Given the description of an element on the screen output the (x, y) to click on. 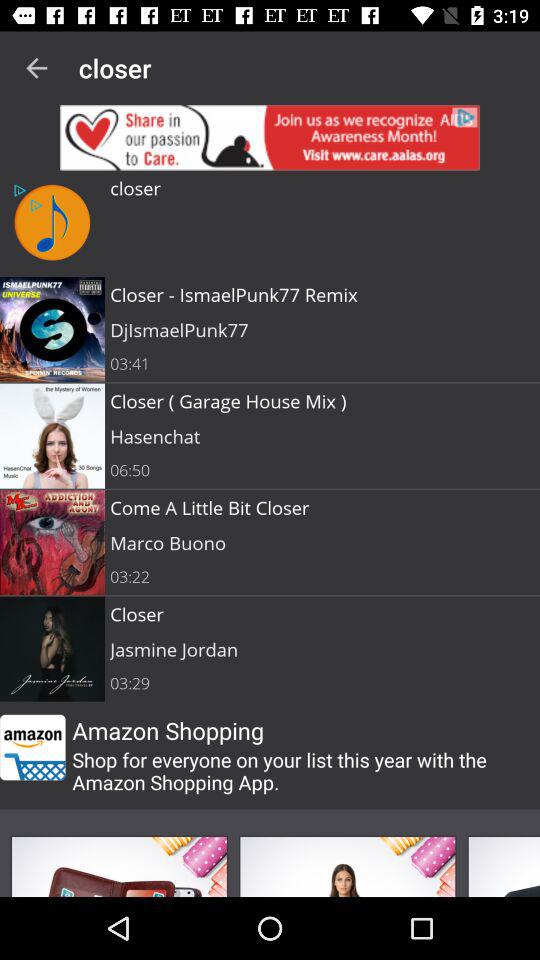
image page (503, 866)
